Given the description of an element on the screen output the (x, y) to click on. 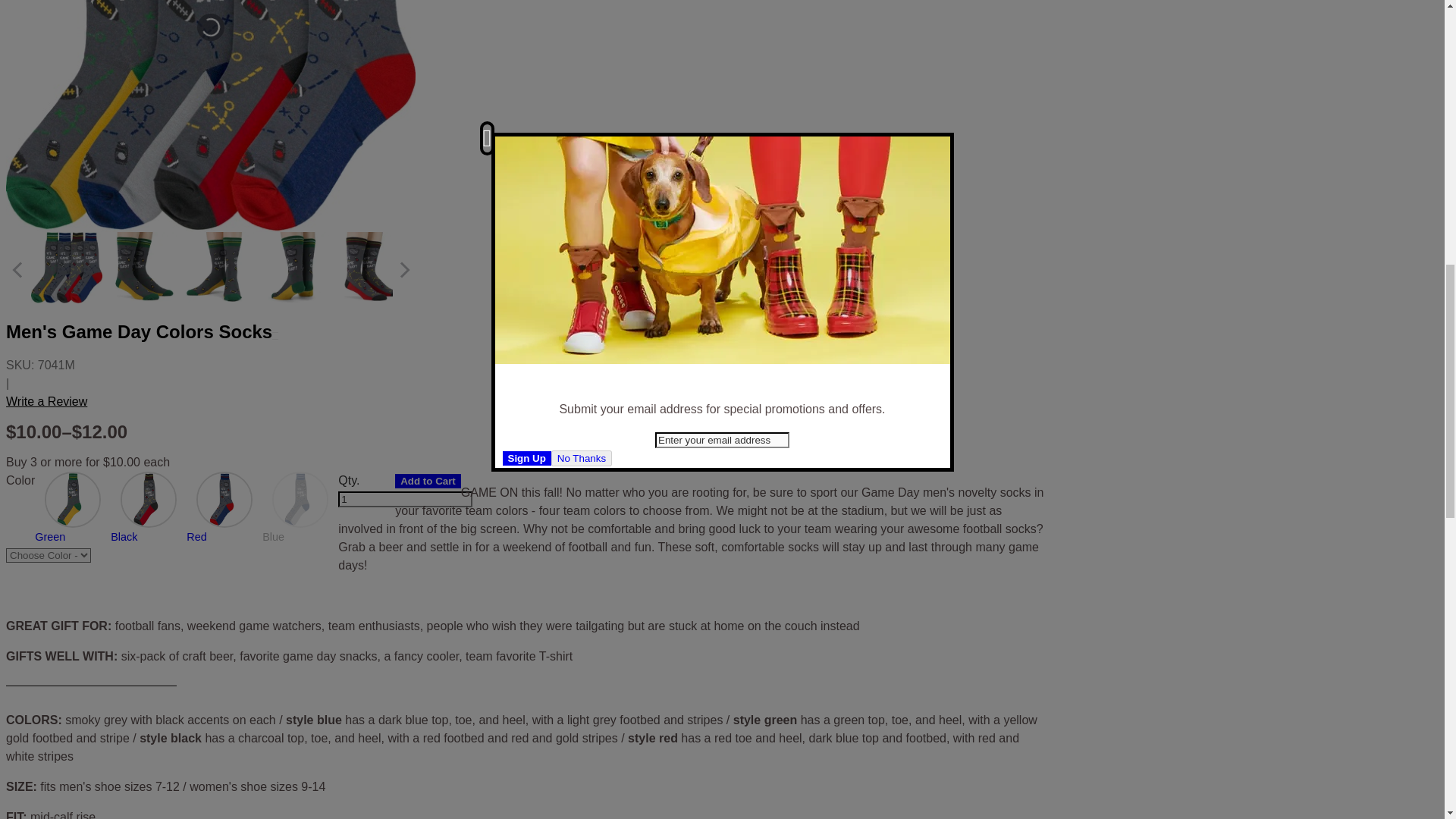
1 (404, 498)
Add to Cart (427, 481)
